Given the description of an element on the screen output the (x, y) to click on. 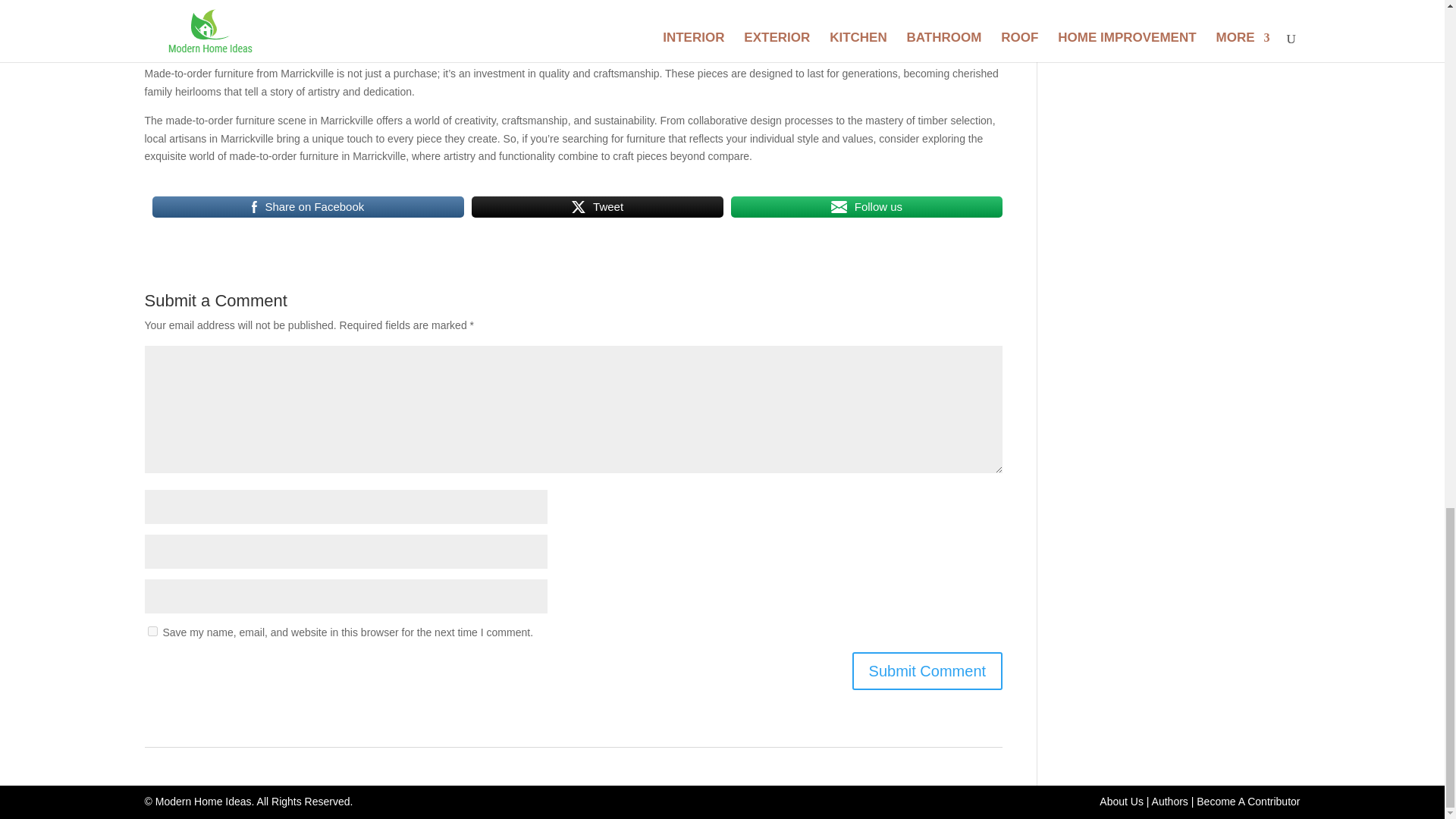
Share on Facebook (307, 206)
Follow us (866, 206)
Tweet (597, 206)
yes (152, 630)
Submit Comment (927, 670)
Submit Comment (927, 670)
